Given the description of an element on the screen output the (x, y) to click on. 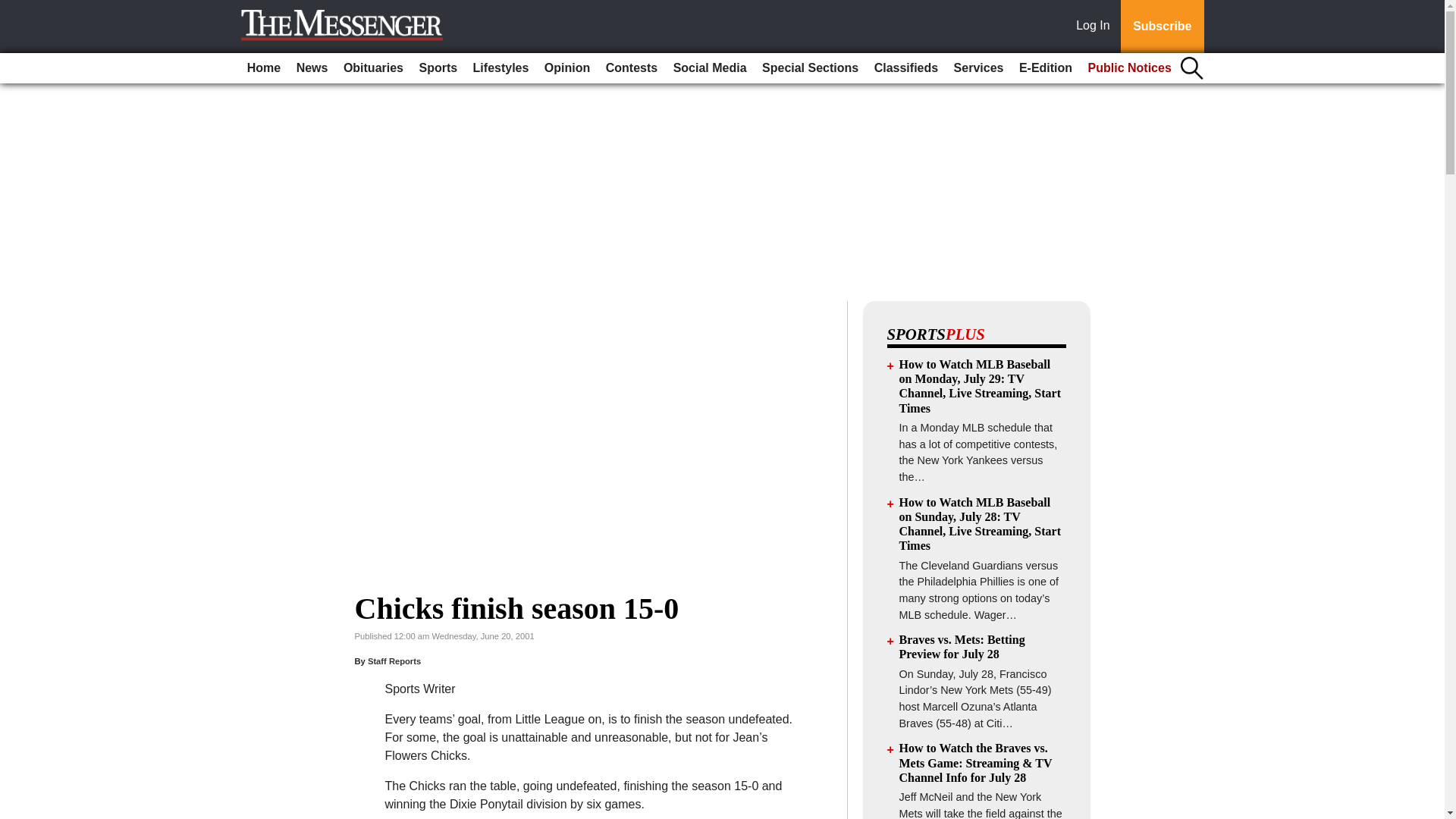
Contests (631, 68)
Obituaries (373, 68)
E-Edition (1045, 68)
News (311, 68)
Opinion (566, 68)
Special Sections (809, 68)
Log In (1095, 26)
Social Media (709, 68)
Subscribe (1162, 26)
Home (263, 68)
Services (978, 68)
Sports (437, 68)
Lifestyles (501, 68)
Classifieds (905, 68)
